Given the description of an element on the screen output the (x, y) to click on. 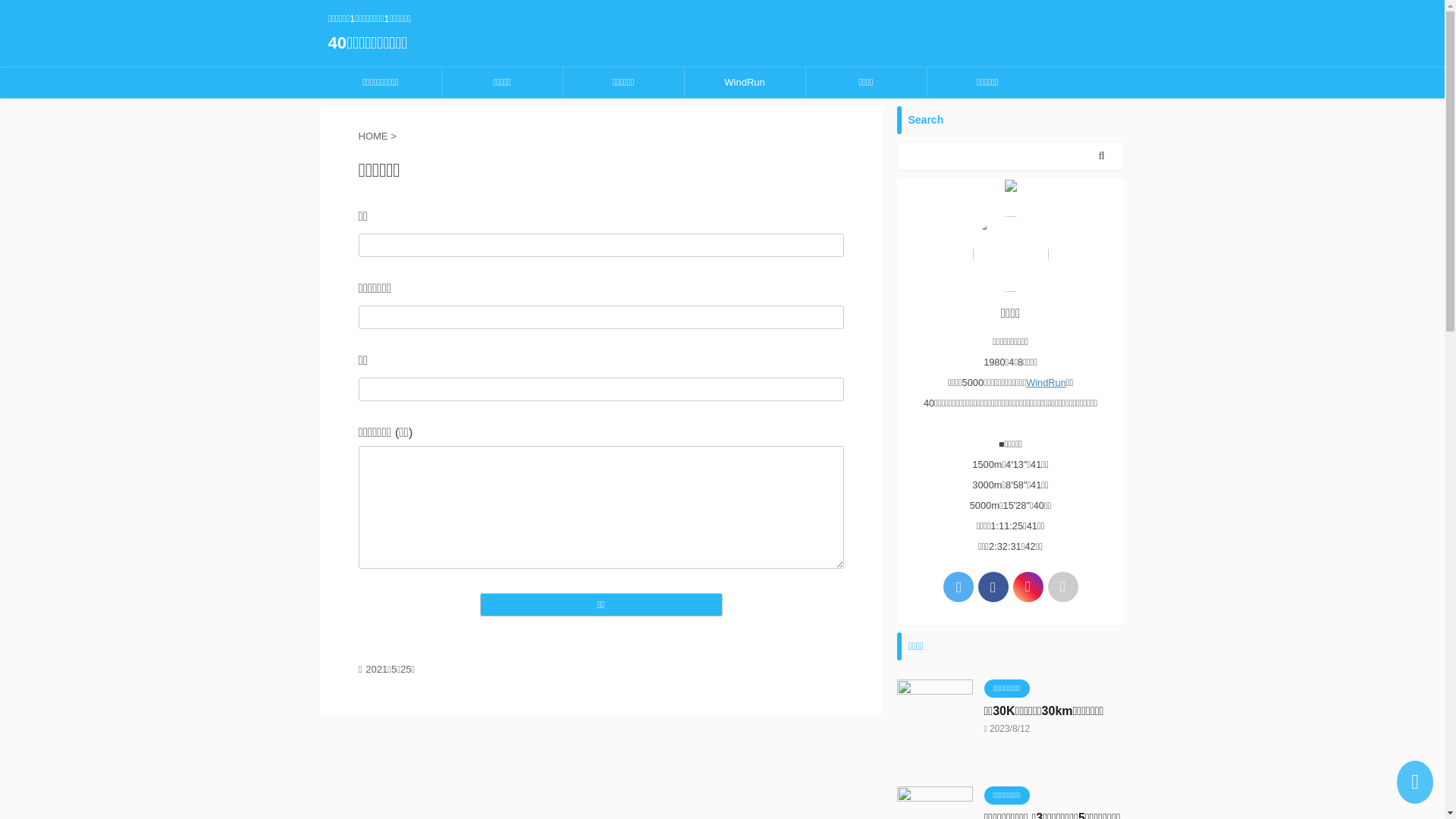
HOME Element type: text (373, 135)
WindRun Element type: text (1046, 381)
WindRun Element type: text (744, 81)
